Given the description of an element on the screen output the (x, y) to click on. 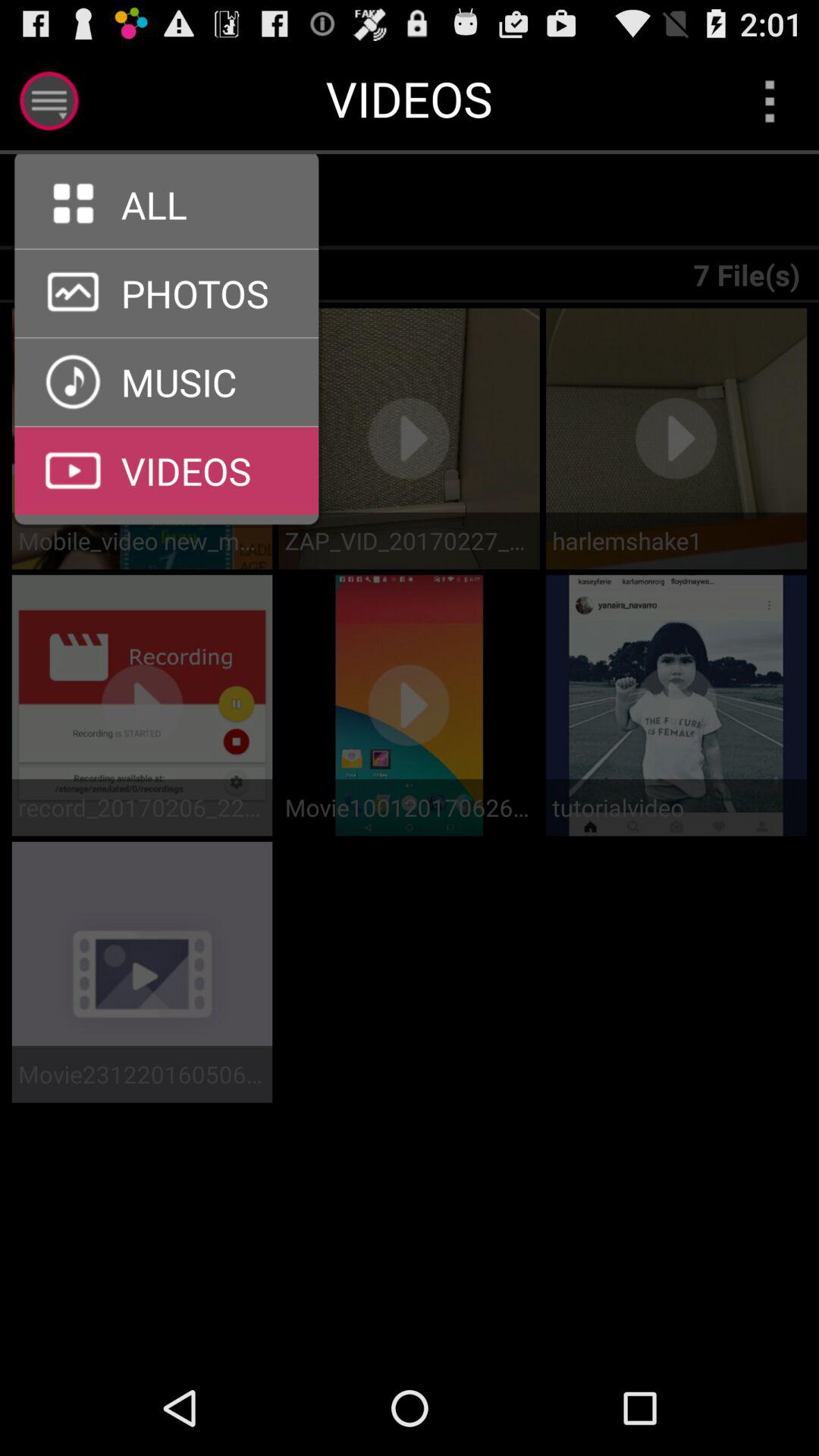
show menu (48, 100)
